Given the description of an element on the screen output the (x, y) to click on. 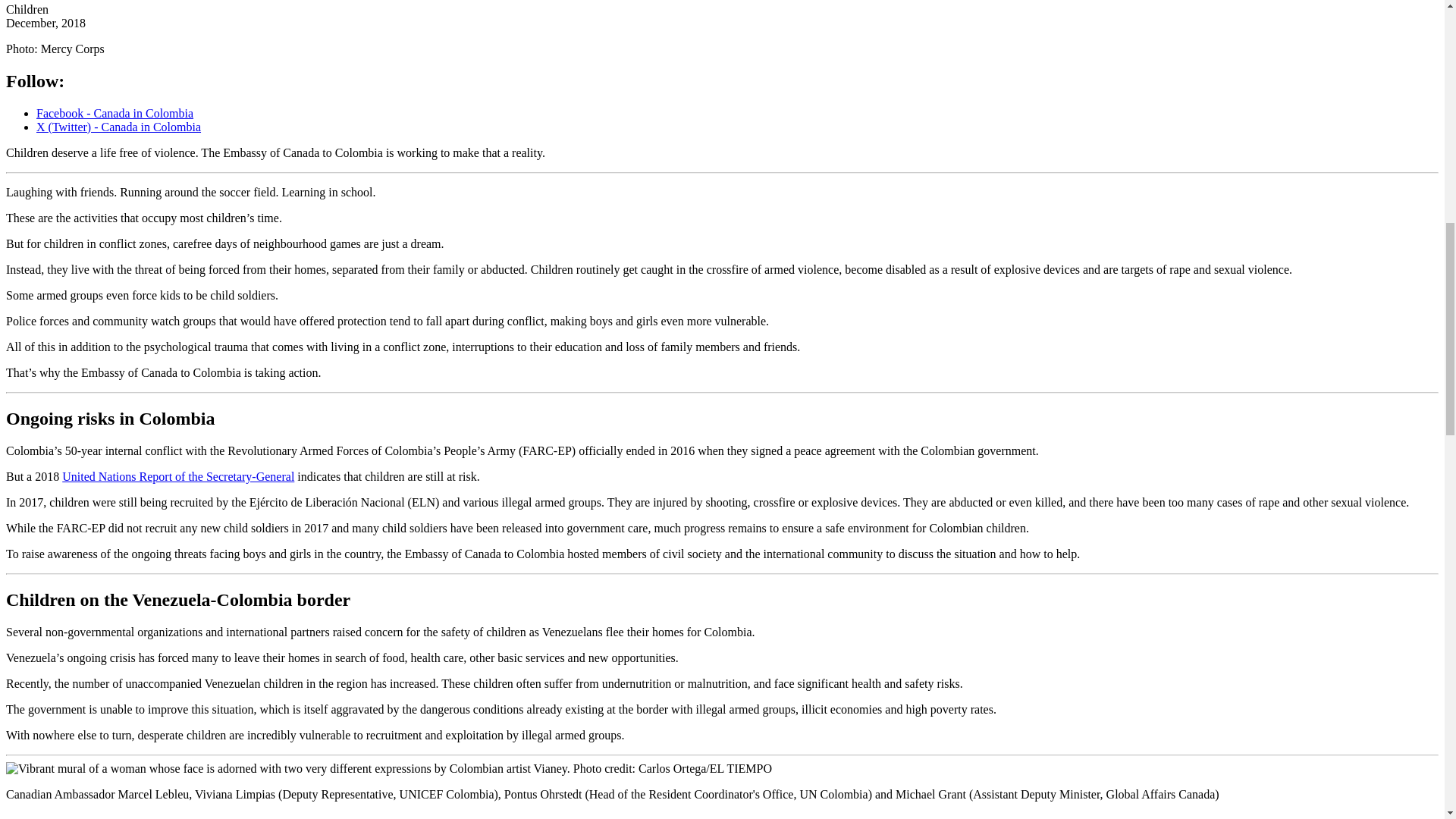
United Nations Report of the Secretary-General (178, 476)
Facebook - Canada in Colombia (114, 113)
